Given the description of an element on the screen output the (x, y) to click on. 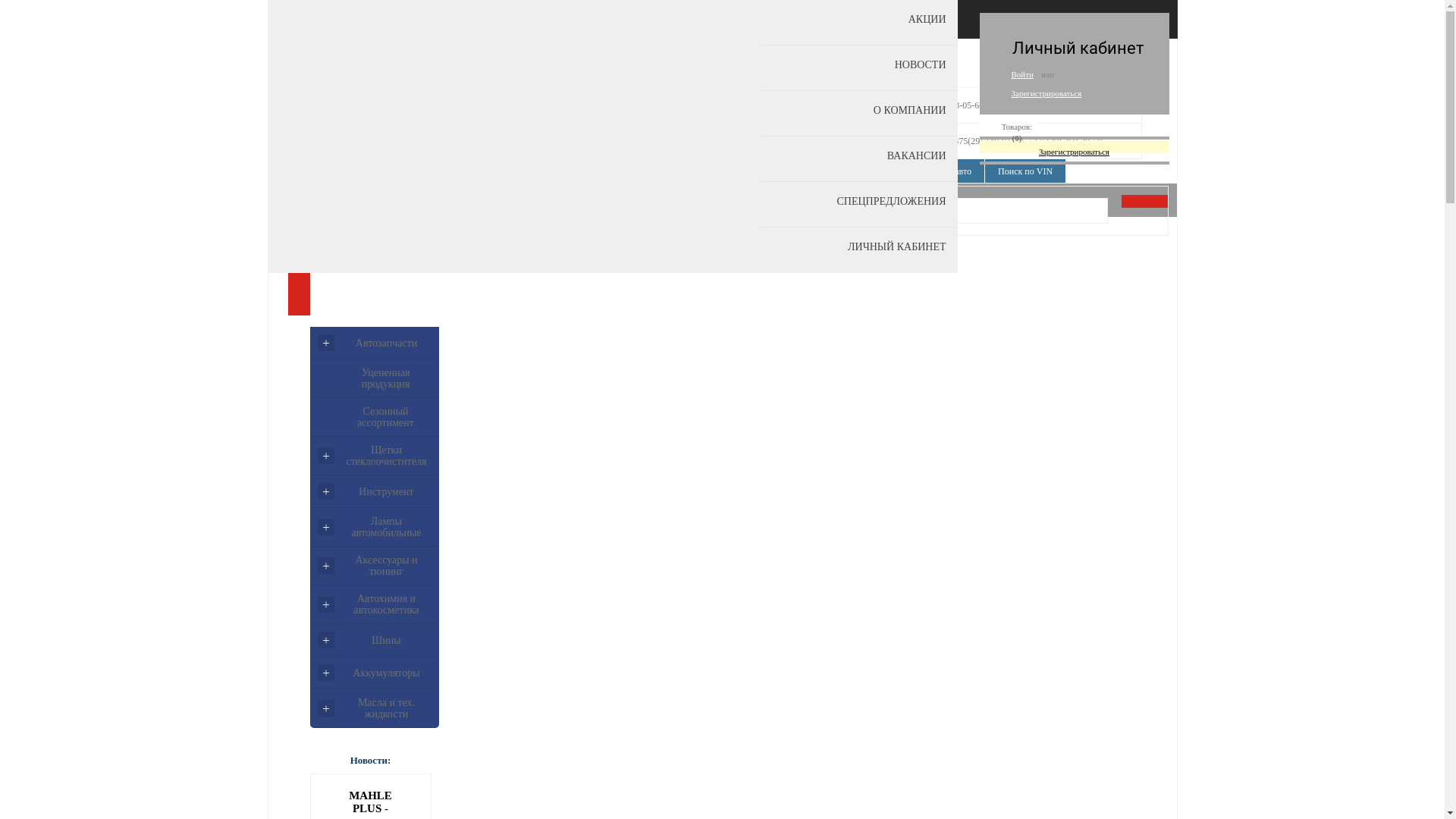
  Element type: text (1145, 200)
